Given the description of an element on the screen output the (x, y) to click on. 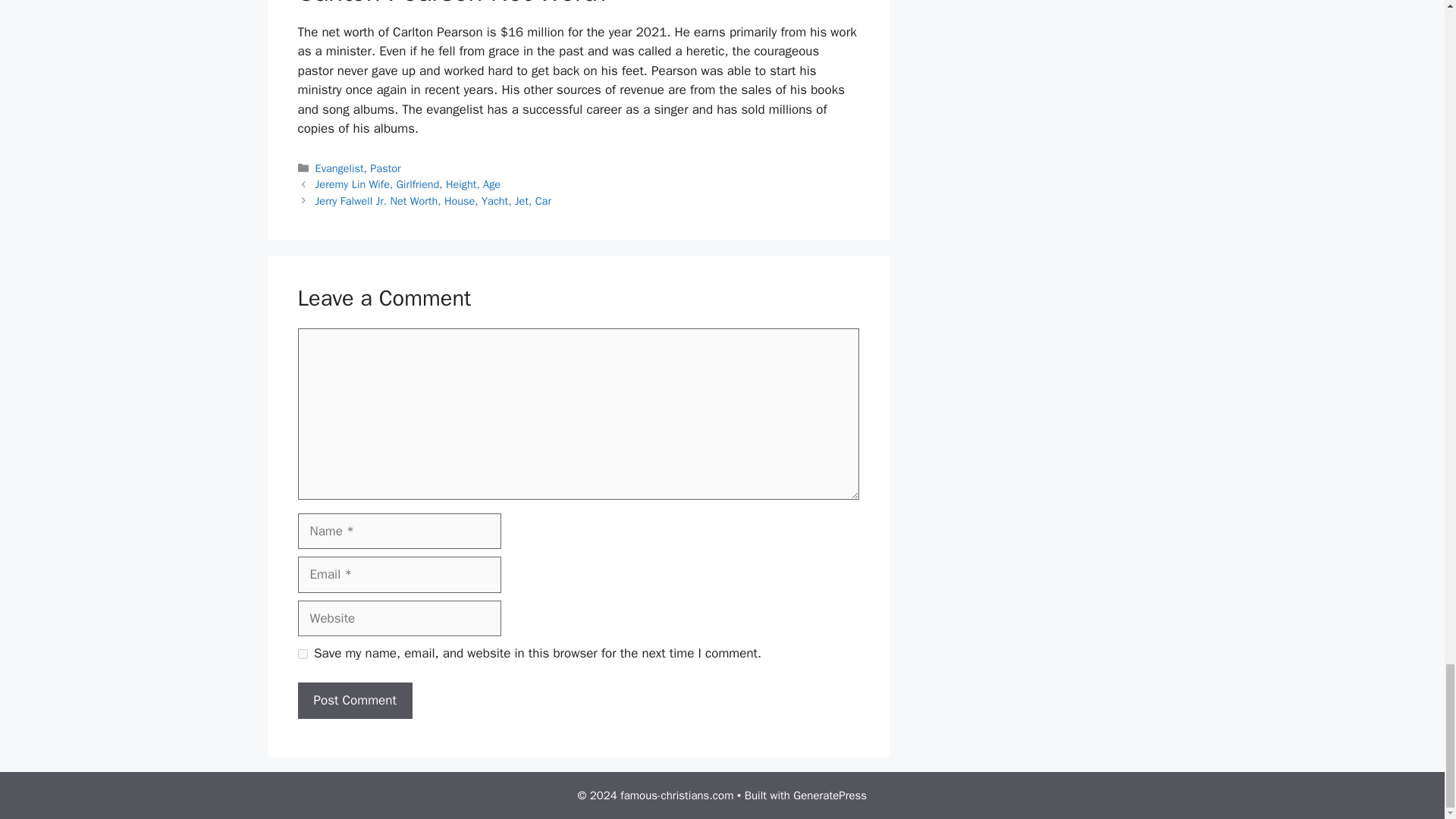
Jeremy Lin Wife, Girlfriend, Height, Age (407, 183)
GeneratePress (829, 795)
Evangelist (339, 168)
Jerry Falwell Jr. Net Worth, House, Yacht, Jet, Car (433, 201)
yes (302, 654)
Post Comment (354, 700)
Pastor (384, 168)
Post Comment (354, 700)
